Given the description of an element on the screen output the (x, y) to click on. 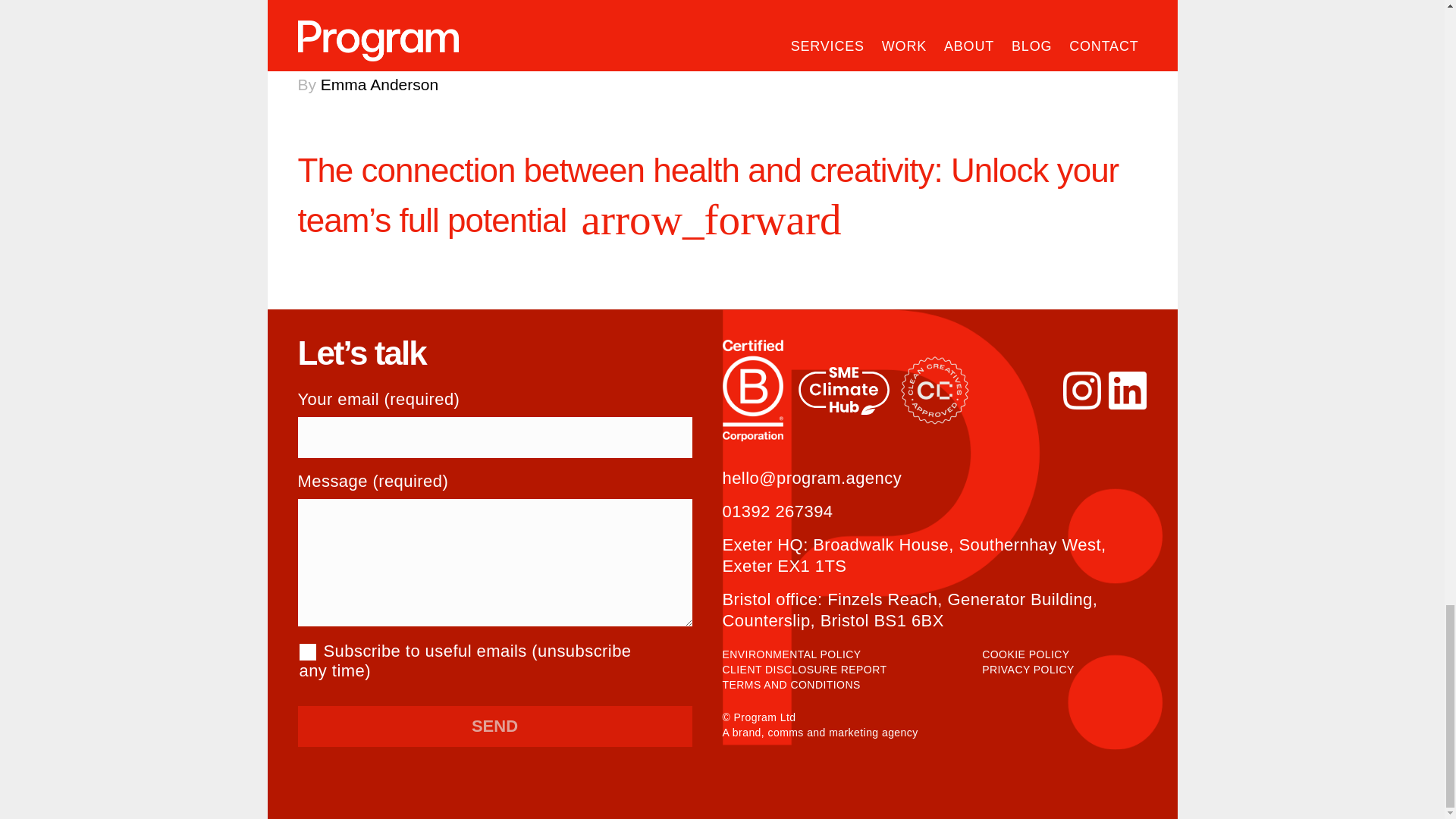
SME-Climate-Hub-logo-white-1 (842, 390)
COOKIE POLICY (1024, 654)
ENVIRONMENTAL POLICY (791, 654)
PRIVACY POLICY (1027, 669)
Send (494, 726)
Send (494, 726)
01392 267394 (777, 511)
TERMS AND CONDITIONS (791, 684)
CLIENT DISCLOSURE REPORT (804, 669)
